Given the description of an element on the screen output the (x, y) to click on. 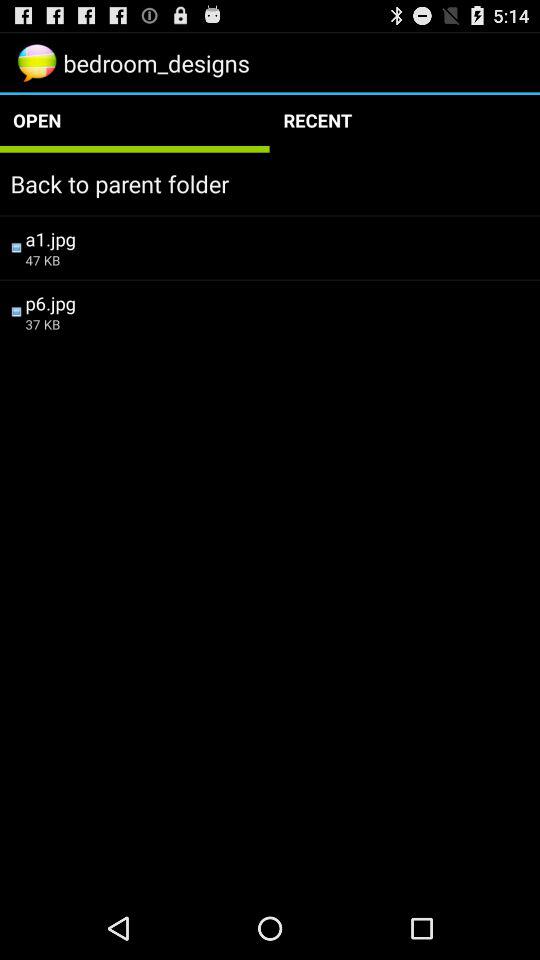
scroll until the 47 kb item (277, 259)
